Given the description of an element on the screen output the (x, y) to click on. 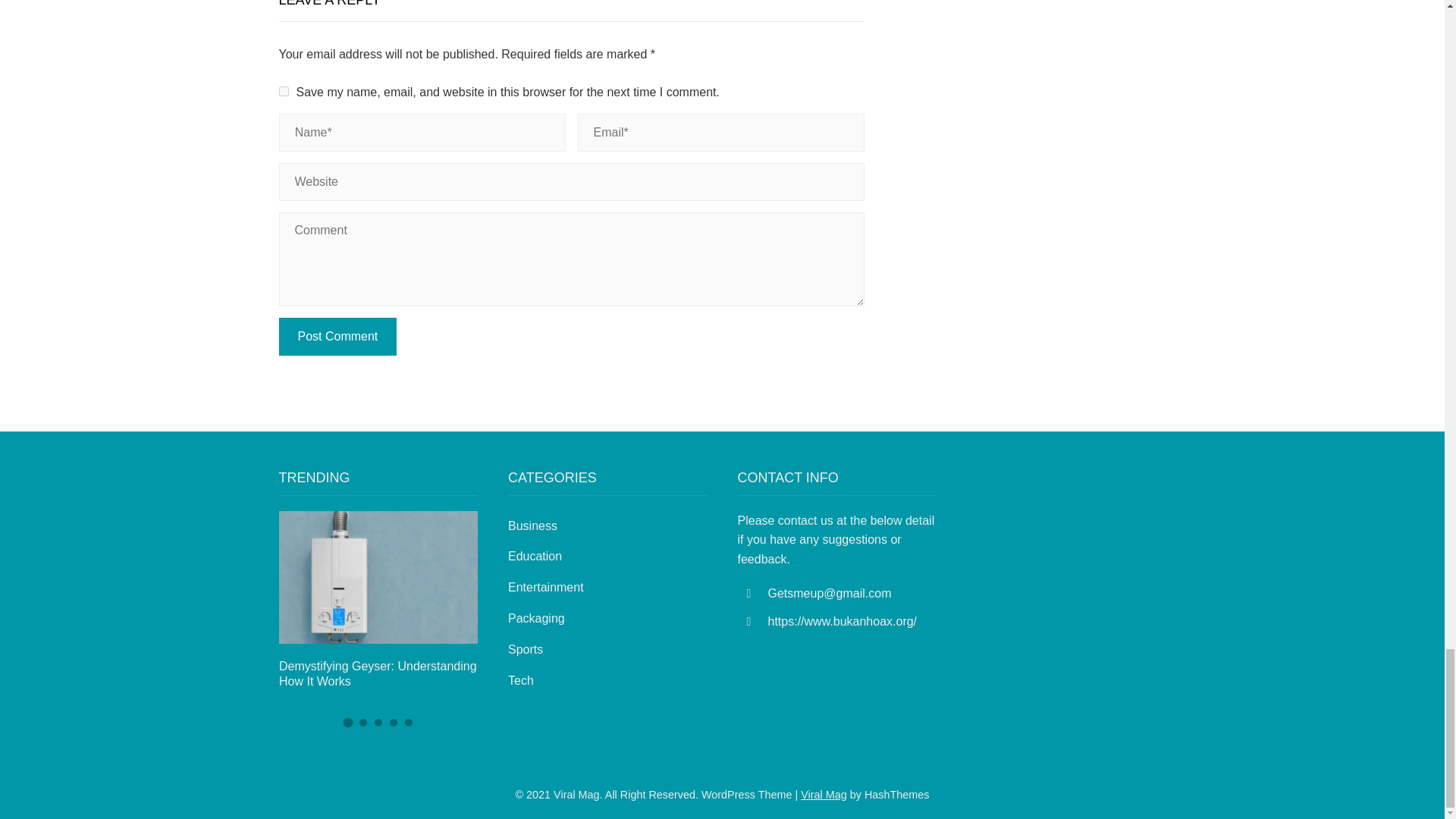
Post Comment (338, 336)
yes (283, 91)
Download Viral News (823, 794)
